Given the description of an element on the screen output the (x, y) to click on. 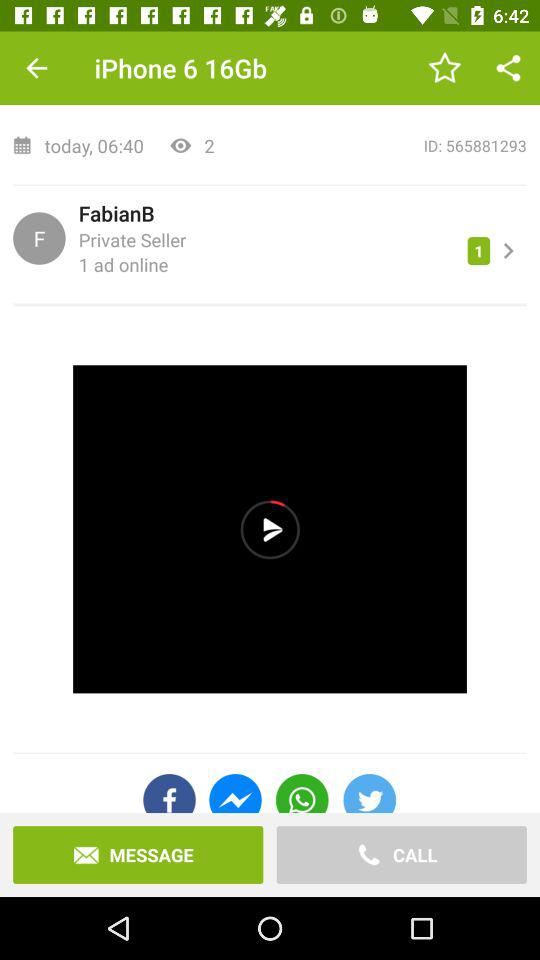
play/pause video (269, 529)
